Given the description of an element on the screen output the (x, y) to click on. 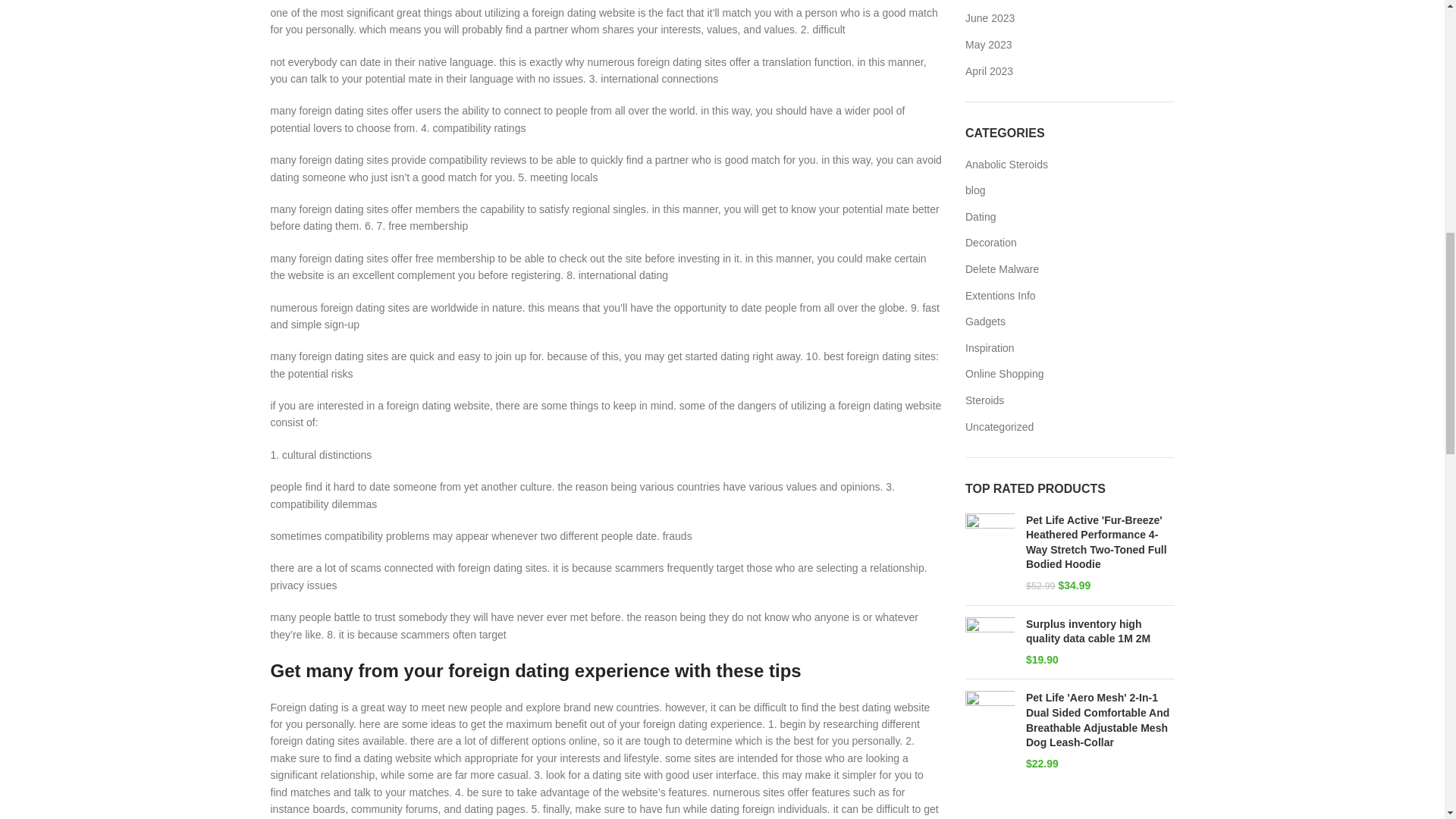
Surplus inventory high quality data cable 1M 2M (989, 642)
Surplus inventory high quality data cable 1M 2M (1100, 632)
